Given the description of an element on the screen output the (x, y) to click on. 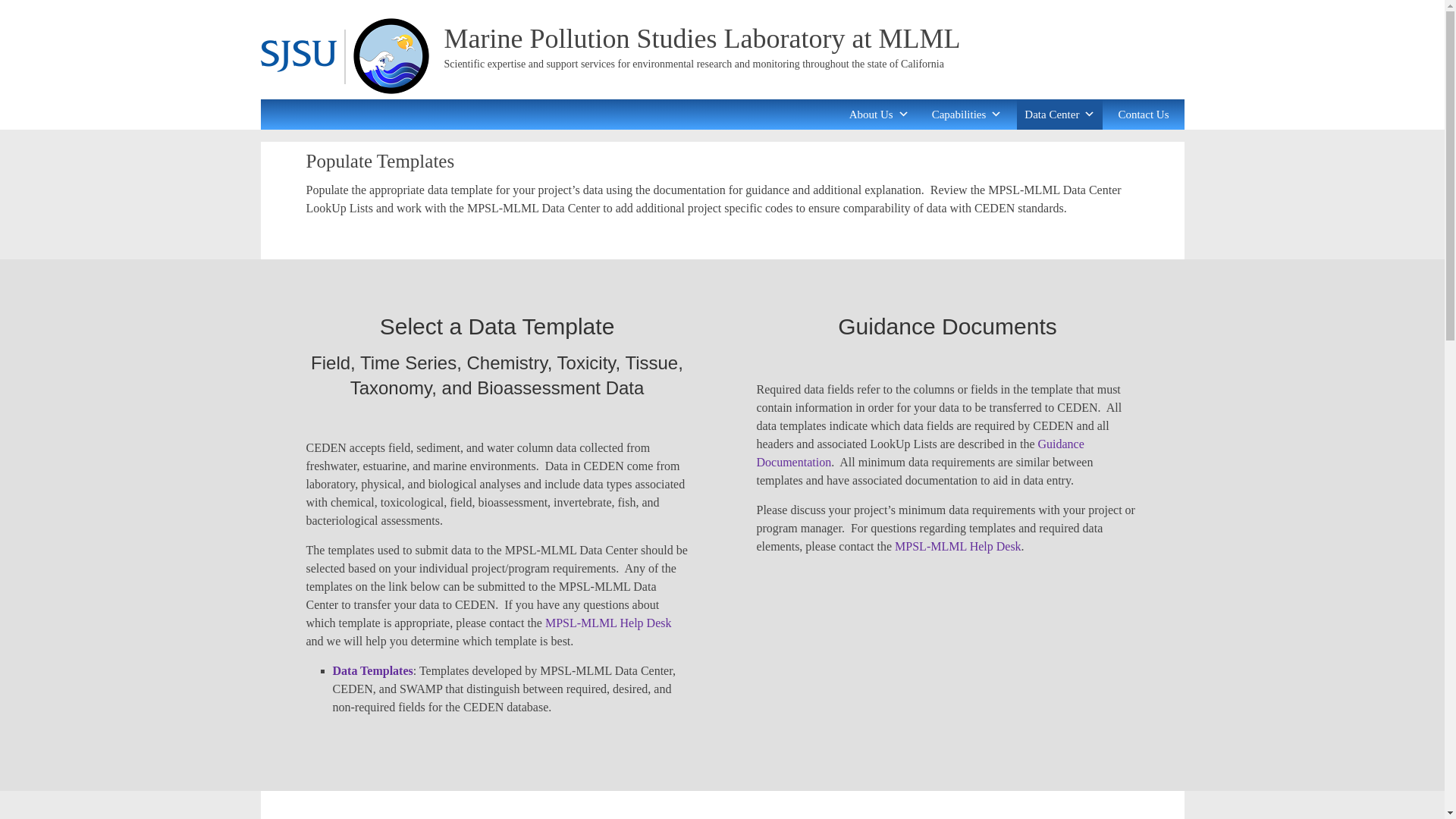
MPSL-MLML Help Desk (607, 622)
Data Center (1059, 114)
MPSL-MLML Help Desk (958, 545)
About Us (879, 114)
Capabilities (967, 114)
Marine Pollution Studies Laboratory at MLML (702, 38)
Data Templates (371, 670)
Contact Us (1142, 114)
Guidance Documentation (920, 452)
Marine Pollution Studies Laboratory at MLML (702, 38)
